Given the description of an element on the screen output the (x, y) to click on. 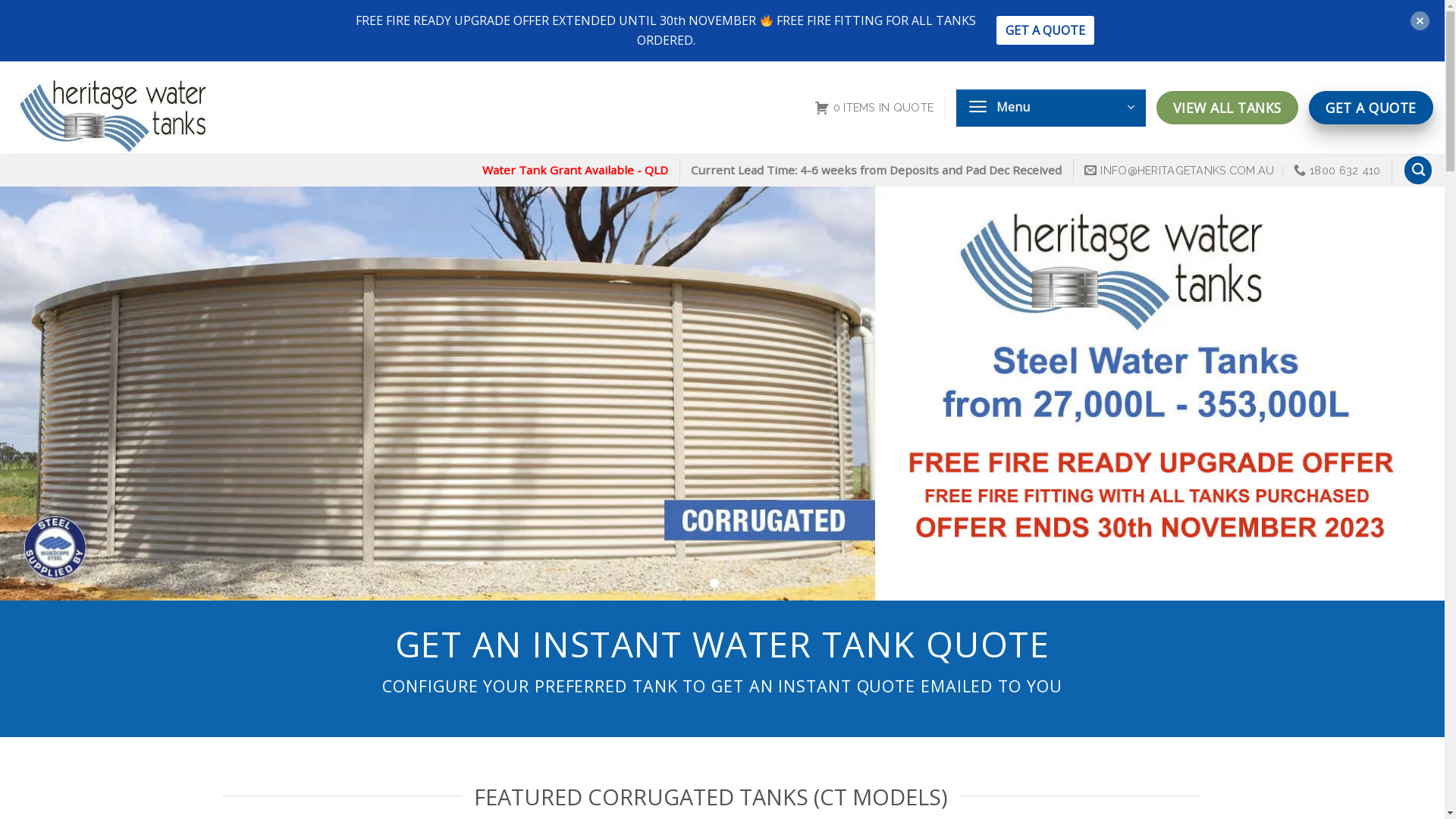
Heritage Water Tanks - The Tank With The Gutter! Element type: hover (143, 107)
GET A QUOTE Element type: text (1370, 107)
0 ITEMS IN QUOTE Element type: text (874, 107)
1800 632 410 Element type: text (1336, 169)
VIEW ALL TANKS Element type: text (1227, 107)
GET A QUOTE Element type: text (1045, 29)
INFO@HERITAGETANKS.COM.AU Element type: text (1179, 169)
Water Tank Grant Available - QLD Element type: text (575, 169)
